Given the description of an element on the screen output the (x, y) to click on. 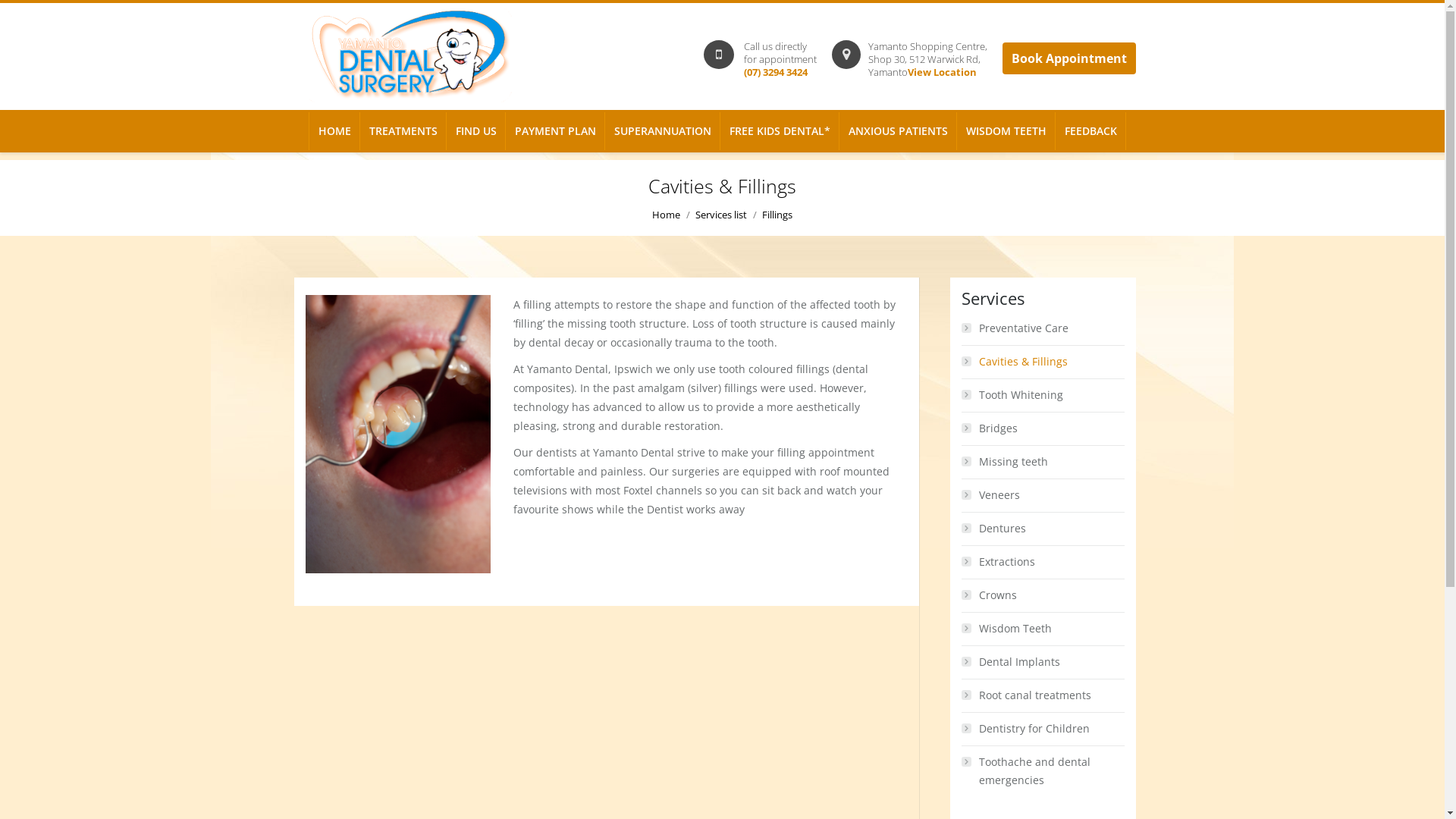
Home Element type: text (666, 214)
WISDOM TEETH Element type: text (1006, 130)
Tooth Whitening Element type: text (1042, 394)
Toothache and dental emergencies Element type: text (1042, 771)
FREE KIDS DENTAL* Element type: text (779, 130)
View Location Element type: text (940, 71)
PAYMENT PLAN Element type: text (554, 130)
Extractions Element type: text (1042, 561)
FIND US Element type: text (475, 130)
Dentistry for Children Element type: text (1042, 728)
Preventative Care Element type: text (1042, 328)
FEEDBACK Element type: text (1090, 130)
SUPERANNUATION Element type: text (662, 130)
ANXIOUS PATIENTS Element type: text (897, 130)
Wisdom Teeth Element type: text (1042, 628)
HOME Element type: text (334, 130)
Crowns Element type: text (1042, 595)
Bridges Element type: text (1042, 428)
Cavities & Fillings Element type: text (1042, 361)
Root canal treatments Element type: text (1042, 695)
Dental Implants Element type: text (1042, 661)
Missing teeth Element type: text (1042, 461)
Services list Element type: text (720, 214)
Veneers Element type: text (1042, 495)
Dentures Element type: text (1042, 528)
TREATMENTS Element type: text (402, 130)
Book Appointment Element type: text (1068, 58)
